Given the description of an element on the screen output the (x, y) to click on. 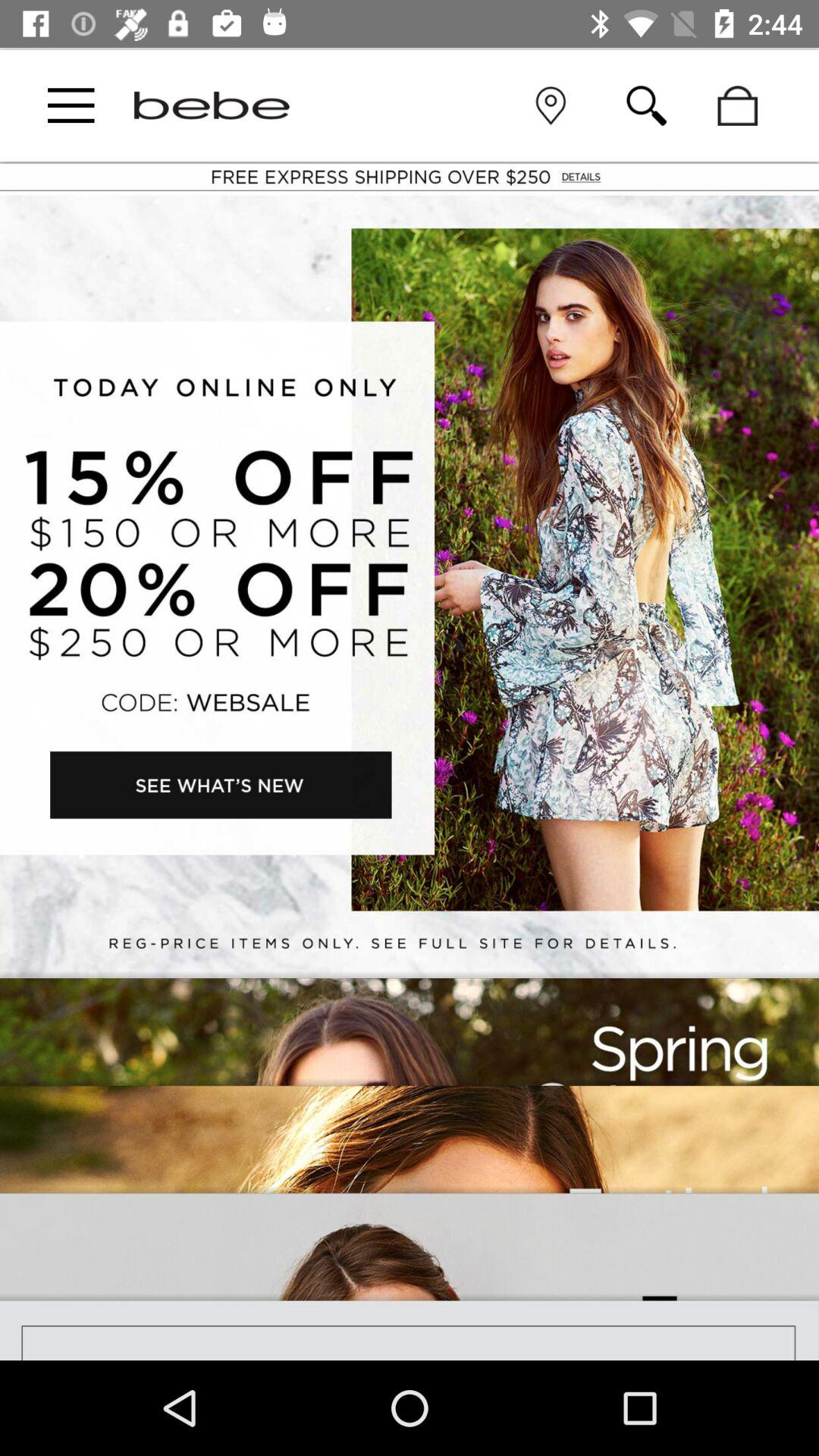
open menu (70, 105)
